Given the description of an element on the screen output the (x, y) to click on. 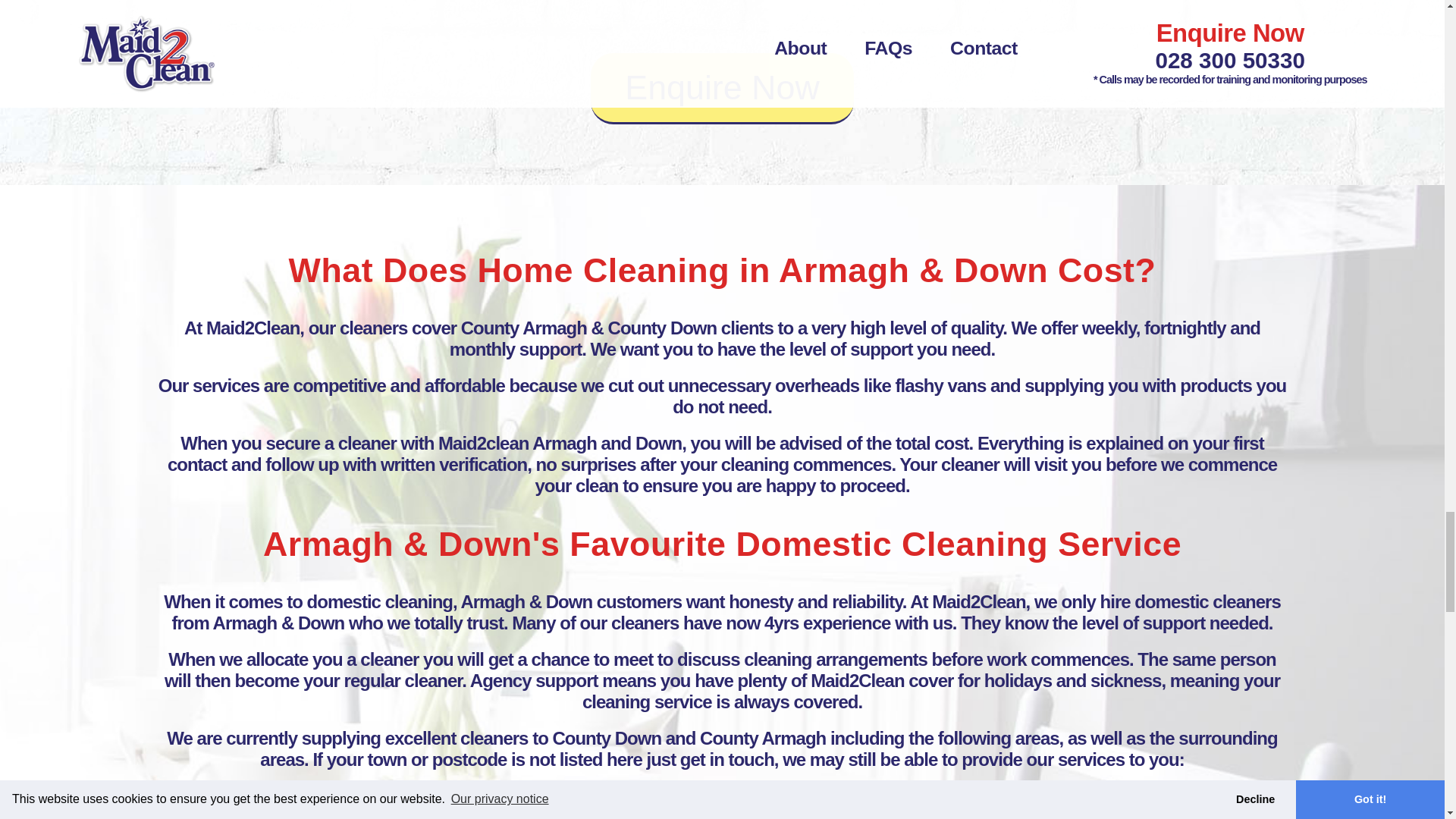
Enquire Now (722, 88)
